Given the description of an element on the screen output the (x, y) to click on. 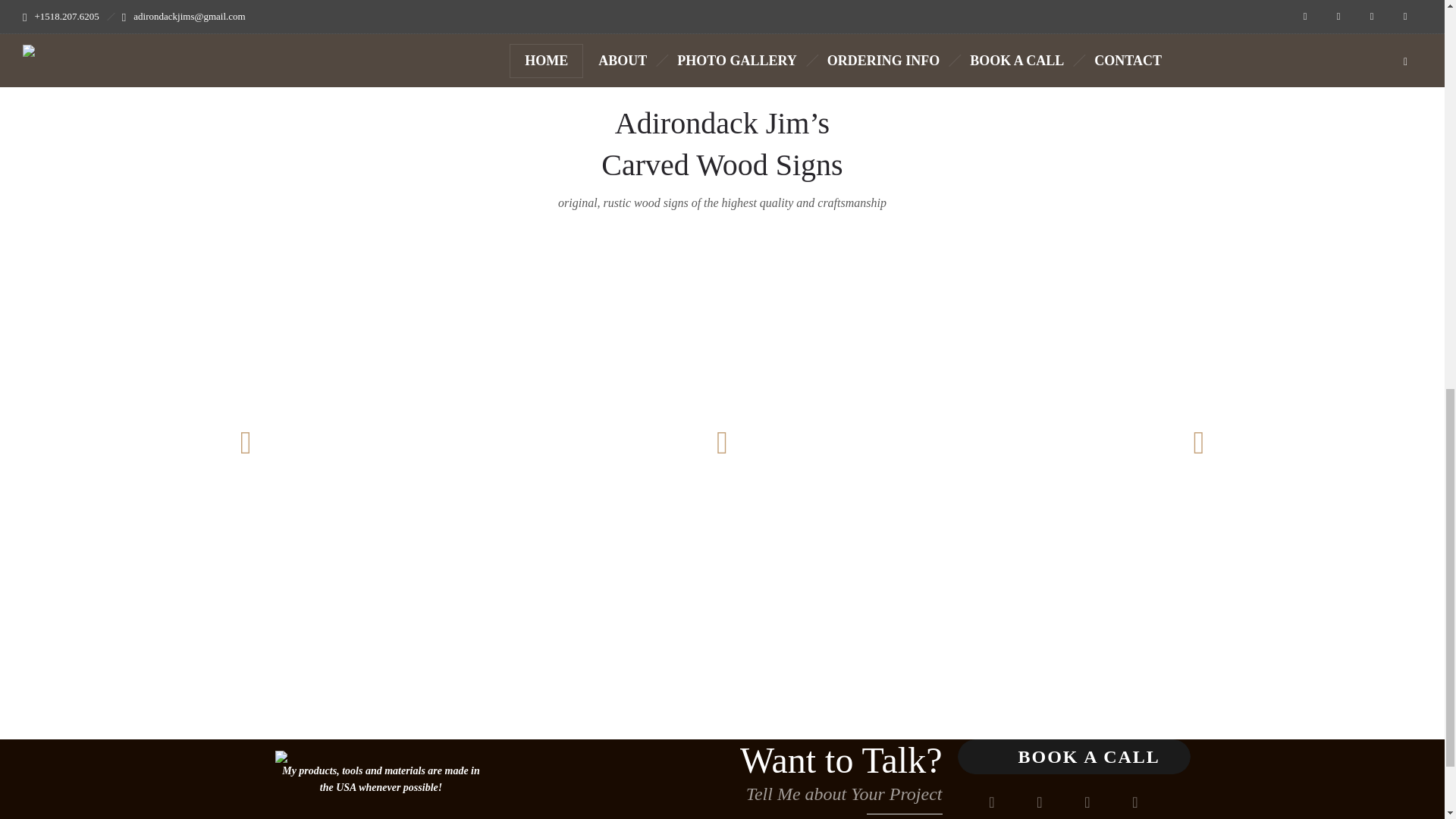
Departments Header (280, 756)
BOOK A CALL (1072, 756)
